Given the description of an element on the screen output the (x, y) to click on. 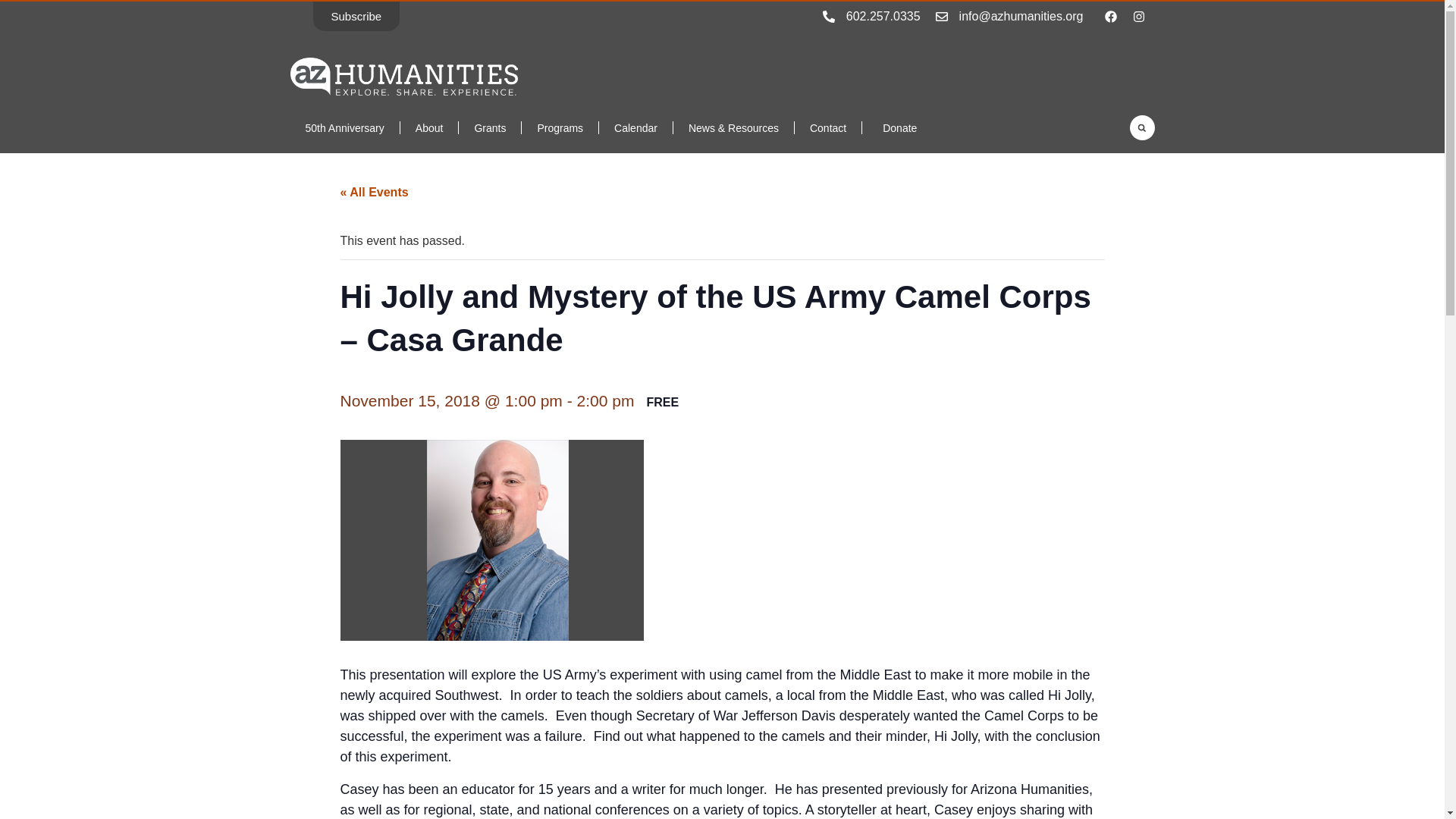
Contact (827, 127)
Calendar (635, 127)
Programs (559, 127)
Donate (896, 127)
Subscribe (355, 16)
Grants (489, 127)
About (429, 127)
602.257.0335 (882, 15)
50th Anniversary (343, 127)
